Given the description of an element on the screen output the (x, y) to click on. 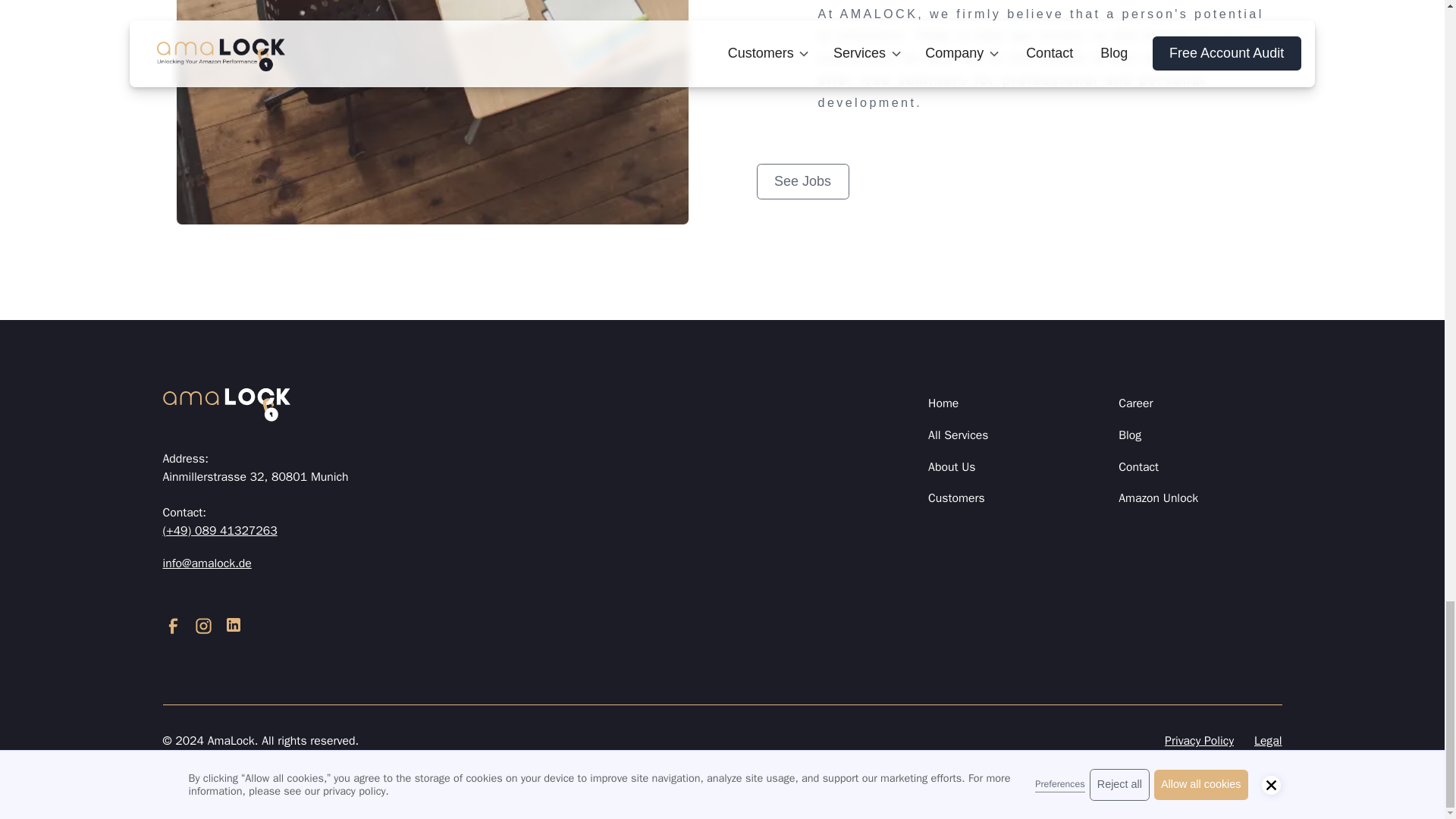
About Us (951, 468)
Home (943, 404)
All Services (958, 436)
Customers (956, 499)
See Jobs (802, 181)
Career (1135, 404)
